Given the description of an element on the screen output the (x, y) to click on. 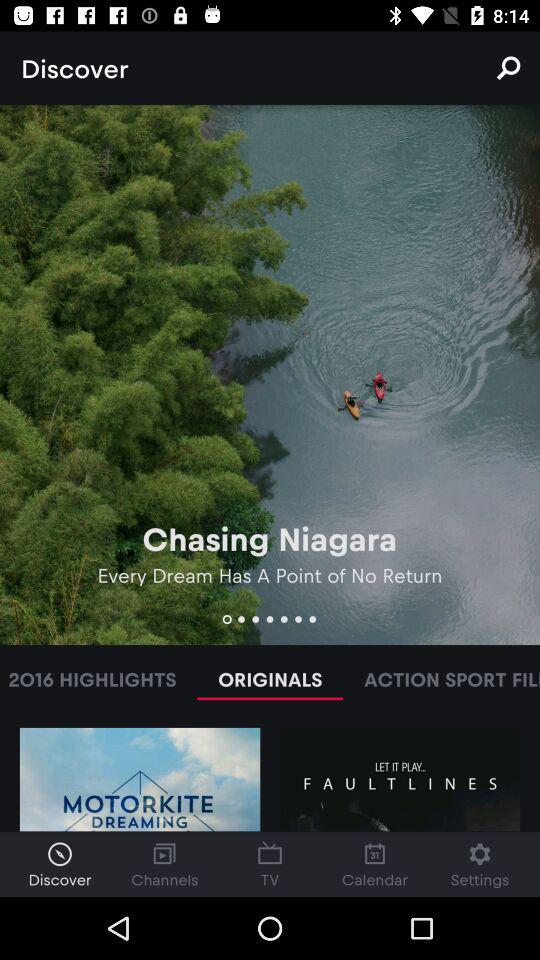
click on discover (60, 864)
click compass icon (59, 854)
click on settings (480, 864)
click on search icon below time (508, 68)
select the button which is left to the button settings (375, 864)
